Given the description of an element on the screen output the (x, y) to click on. 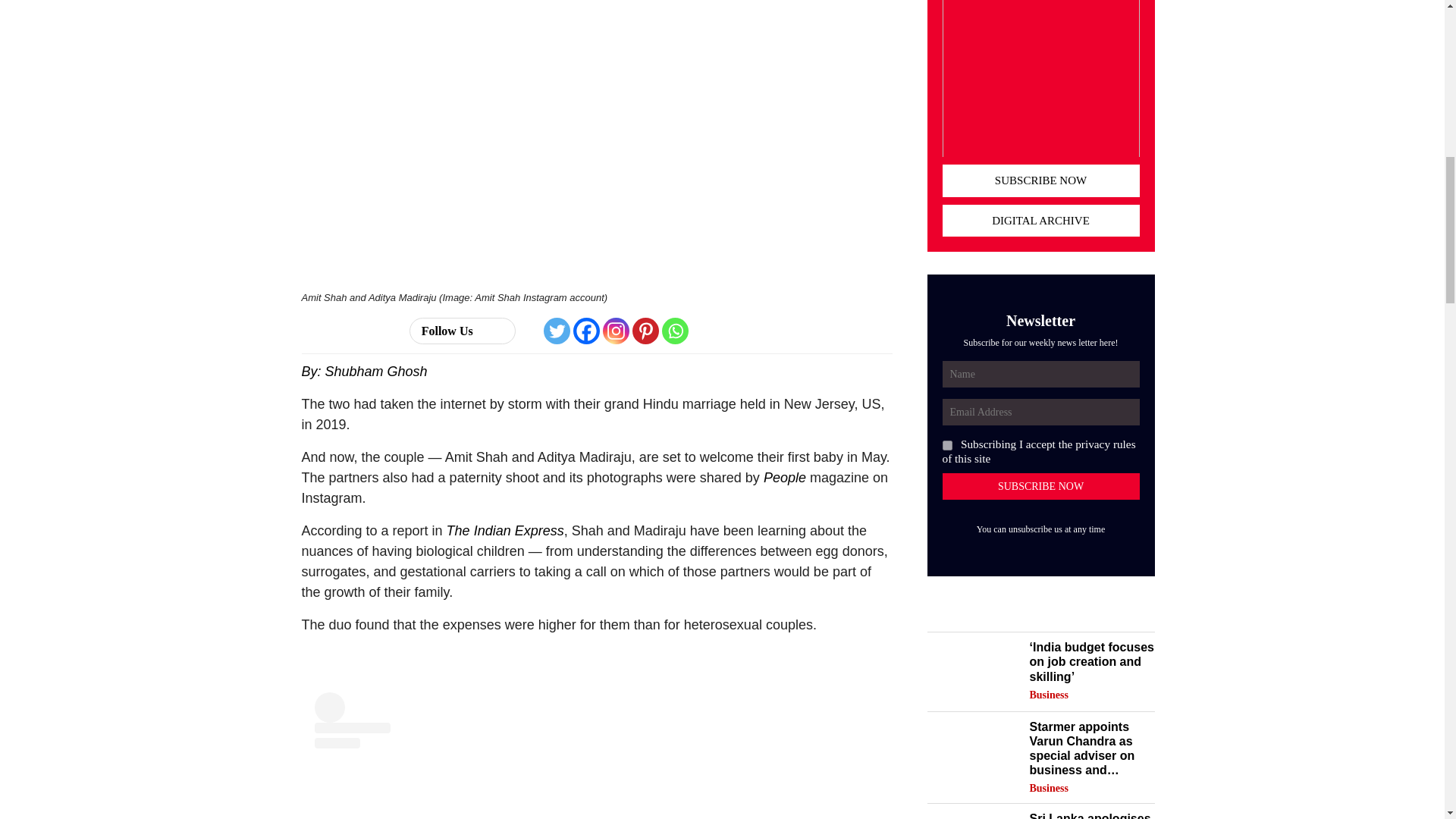
Whatsapp (675, 330)
Subscribe Now (1040, 486)
Instagram (615, 330)
Twitter (556, 330)
Pinterest (645, 330)
on (947, 445)
Facebook (586, 330)
